Given the description of an element on the screen output the (x, y) to click on. 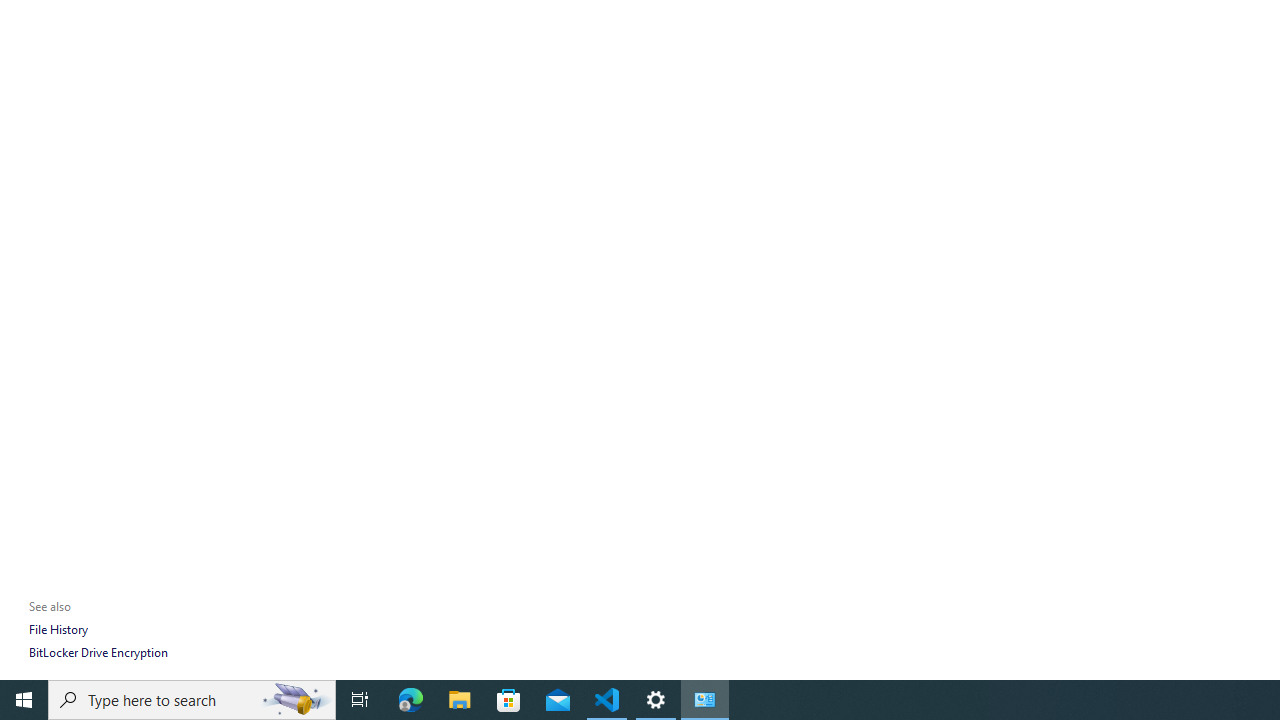
Control Panel - 1 running window (704, 699)
File History (57, 629)
BitLocker Drive Encryption (98, 652)
